Given the description of an element on the screen output the (x, y) to click on. 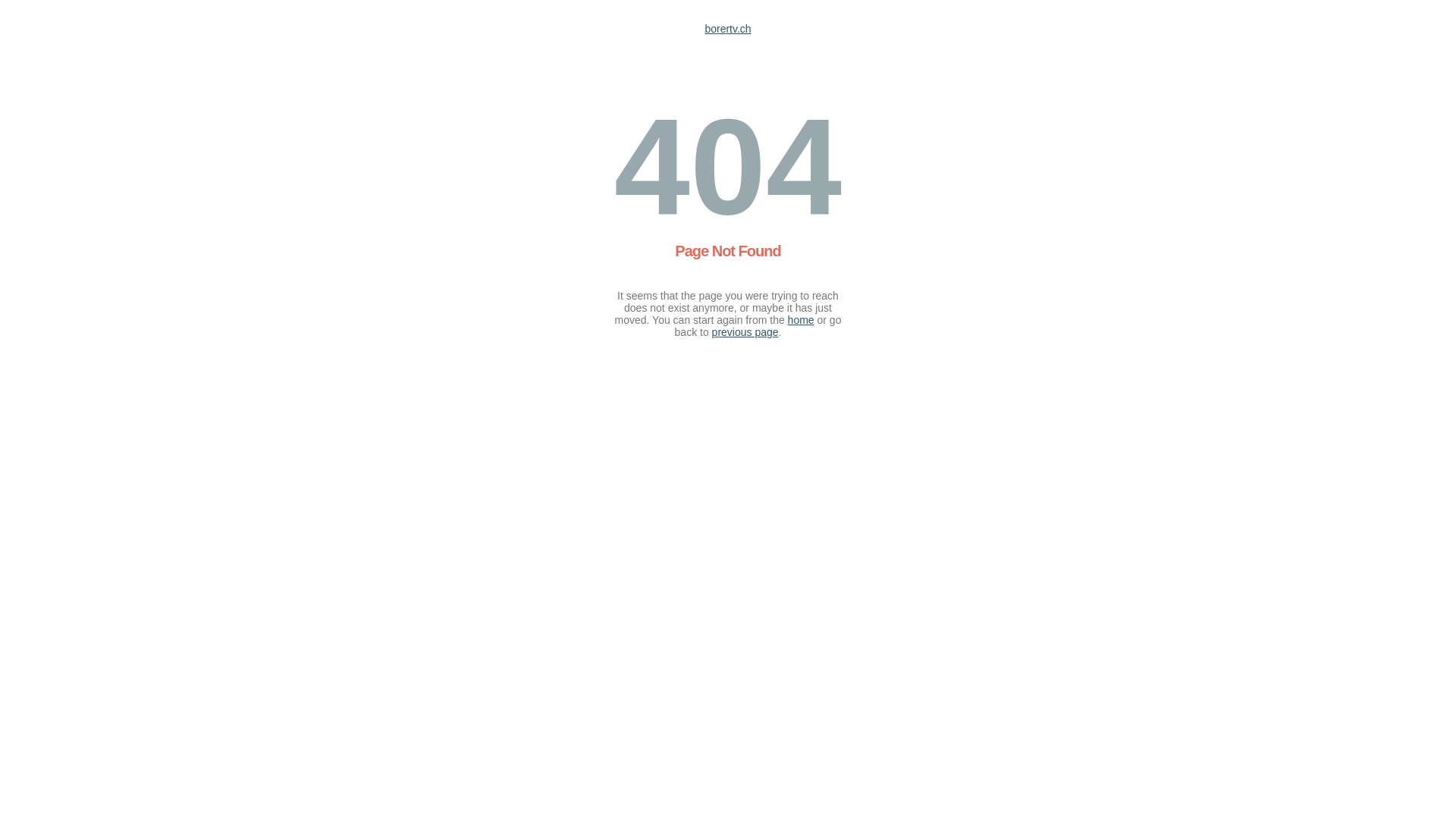
home Element type: text (800, 319)
borertv.ch Element type: text (727, 28)
previous page Element type: text (745, 332)
